Given the description of an element on the screen output the (x, y) to click on. 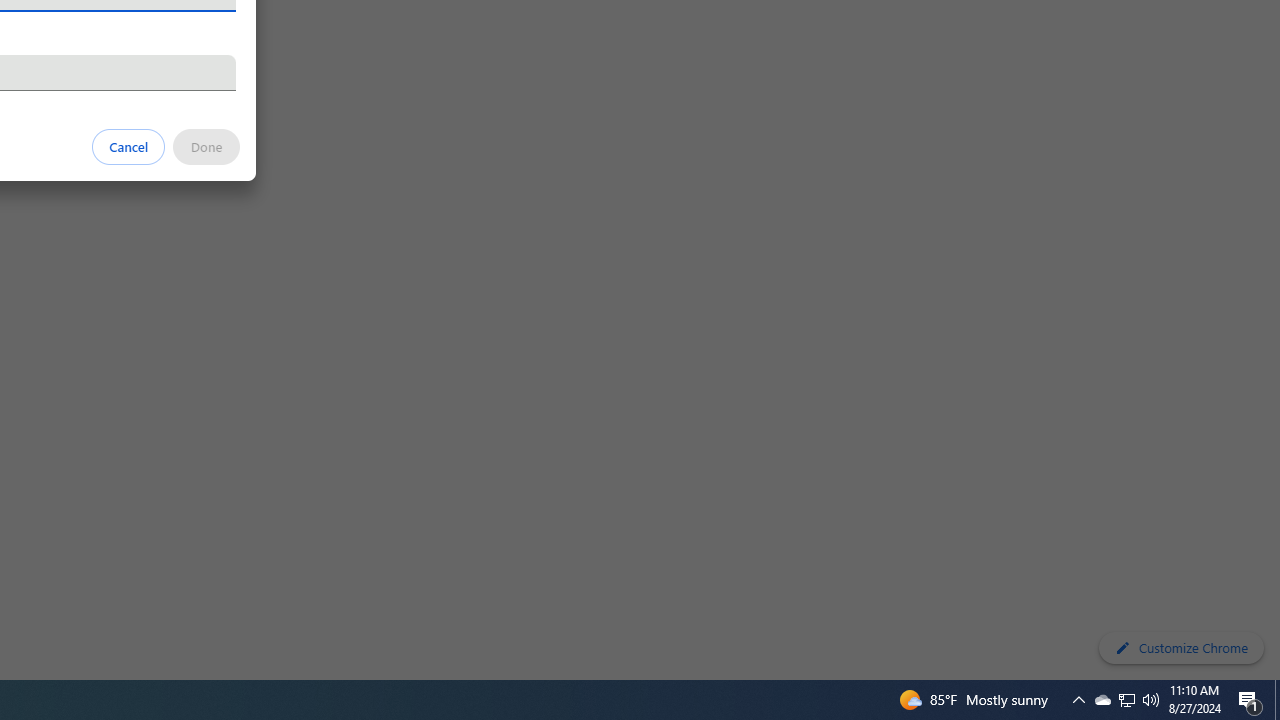
Cancel (129, 146)
Done (206, 146)
